Given the description of an element on the screen output the (x, y) to click on. 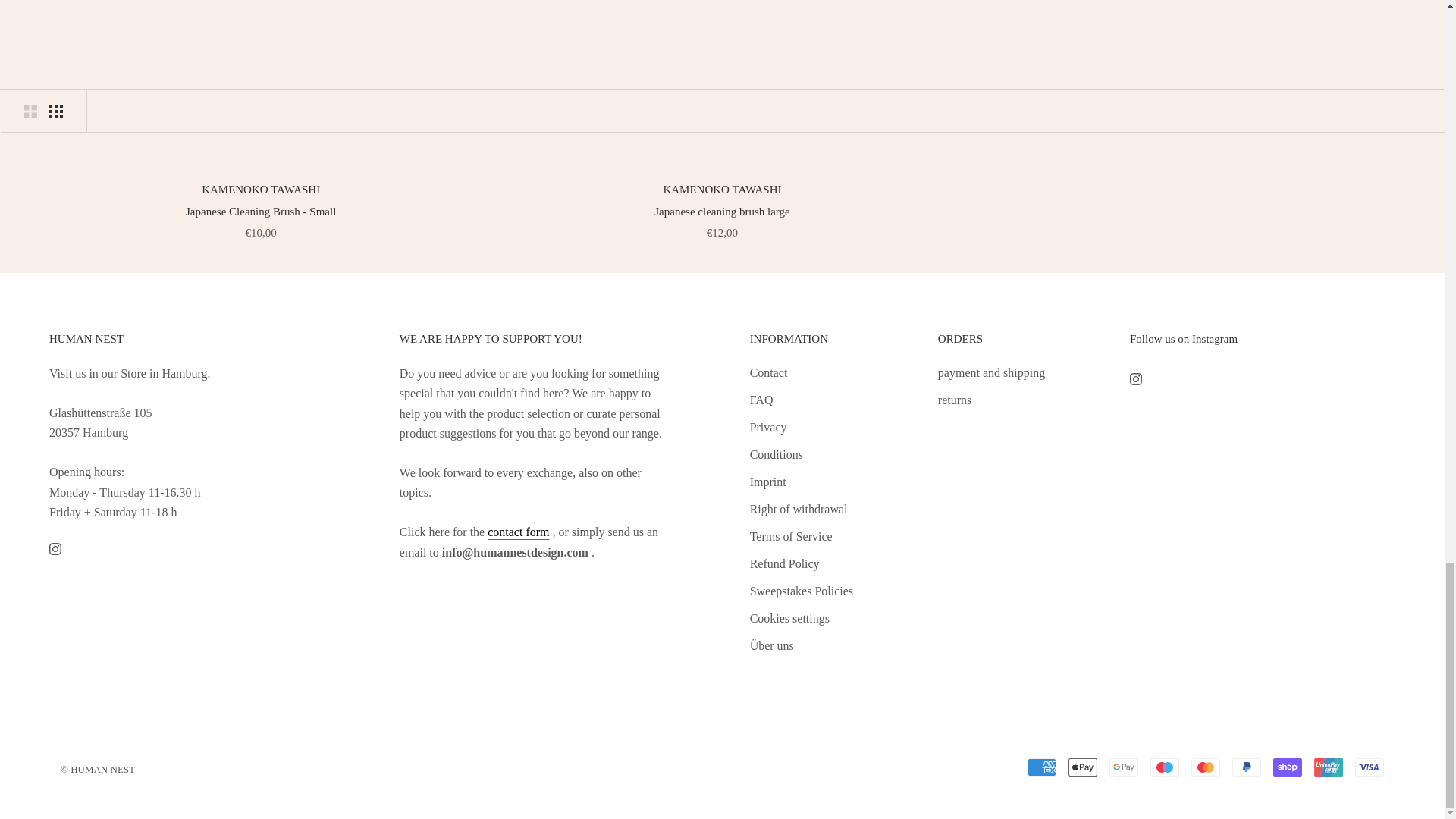
Shop Pay (1286, 767)
PayPal (1245, 767)
Union Pay (1328, 767)
Visa (1369, 767)
Contact (517, 531)
Apple Pay (1082, 767)
Maestro (1164, 767)
American Express (1042, 767)
Google Pay (1123, 767)
Mastercard (1205, 767)
